Given the description of an element on the screen output the (x, y) to click on. 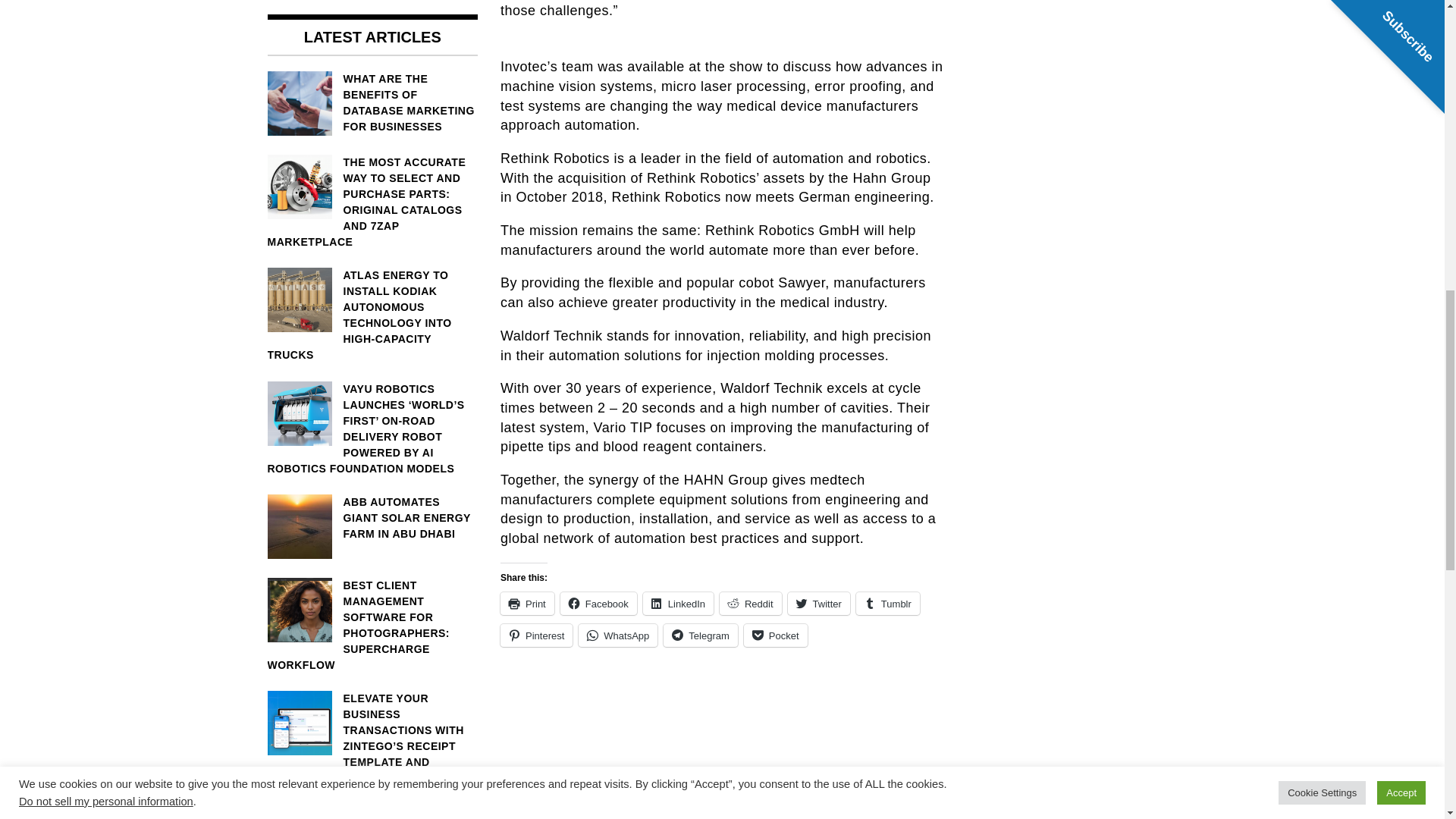
Click to print (527, 603)
Click to share on Tumblr (888, 603)
Click to share on Twitter (818, 603)
Click to share on LinkedIn (678, 603)
Click to share on Reddit (750, 603)
Click to share on Facebook (598, 603)
Click to share on Pocket (776, 635)
Click to share on Pinterest (536, 635)
Click to share on WhatsApp (618, 635)
Click to share on Telegram (699, 635)
